Given the description of an element on the screen output the (x, y) to click on. 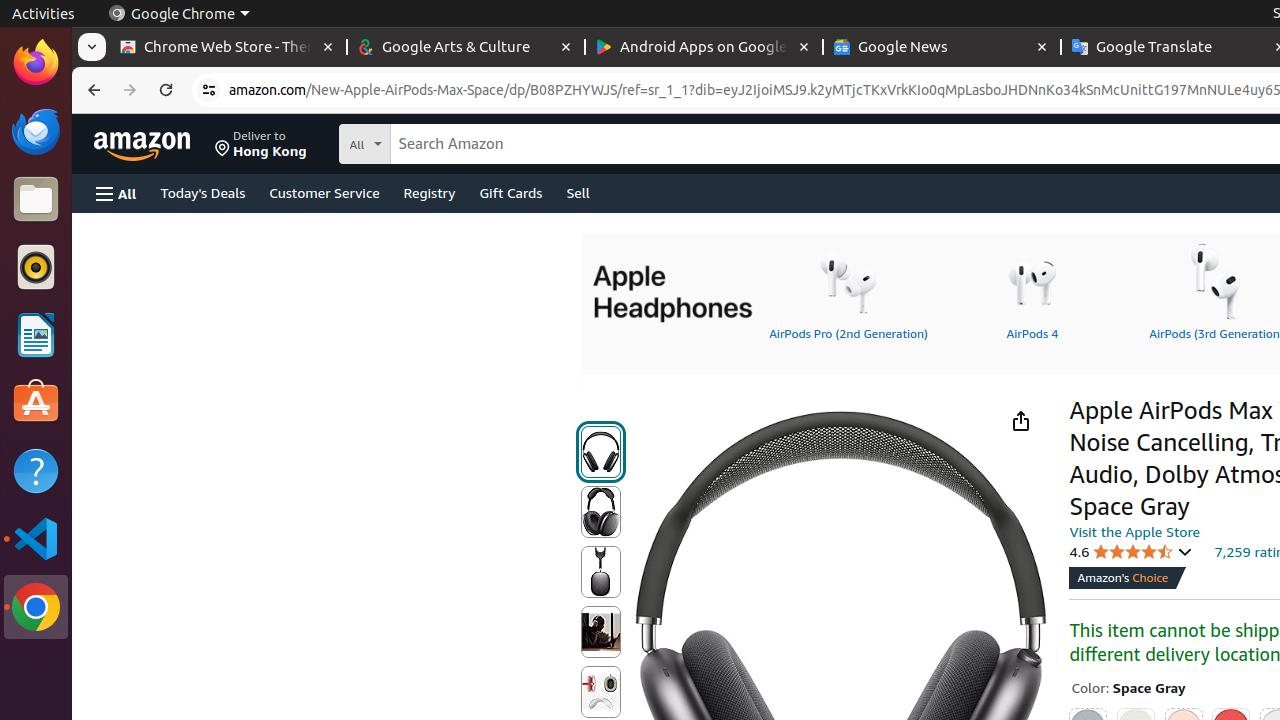
Skip to main content Element type: link (154, 142)
View site information Element type: push-button (209, 90)
LibreOffice Writer Element type: push-button (36, 334)
Google Arts & Culture - Memory usage - 57.6 MB Element type: page-tab (466, 47)
Customer Service Element type: link (324, 192)
